Given the description of an element on the screen output the (x, y) to click on. 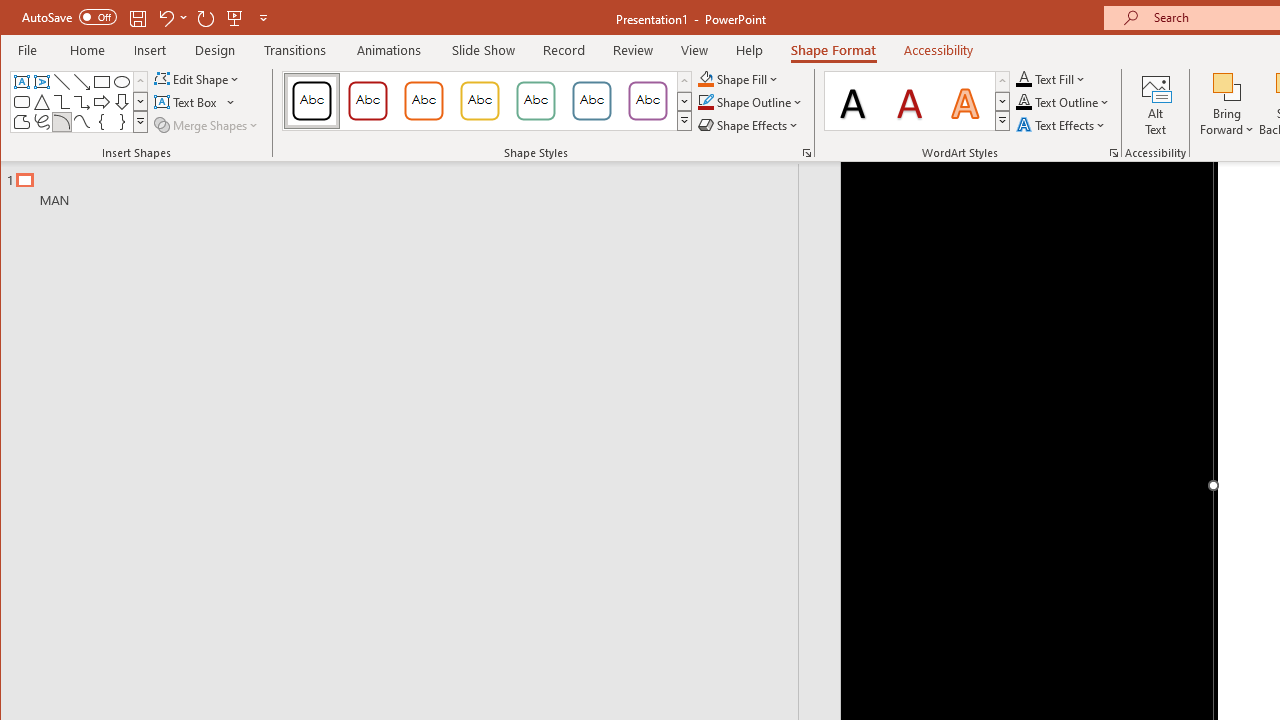
Freeform: Shape (21, 121)
Colored Outline - Purple, Accent 6 (647, 100)
Insert (150, 50)
Shape Format (833, 50)
Text Outline (1062, 101)
Line (61, 82)
AutoSave (68, 16)
From Beginning (235, 17)
Quick Styles (1001, 120)
Text Effects (1062, 124)
Row up (1001, 81)
Arrow: Down (121, 102)
Draw Horizontal Text Box (187, 101)
